Given the description of an element on the screen output the (x, y) to click on. 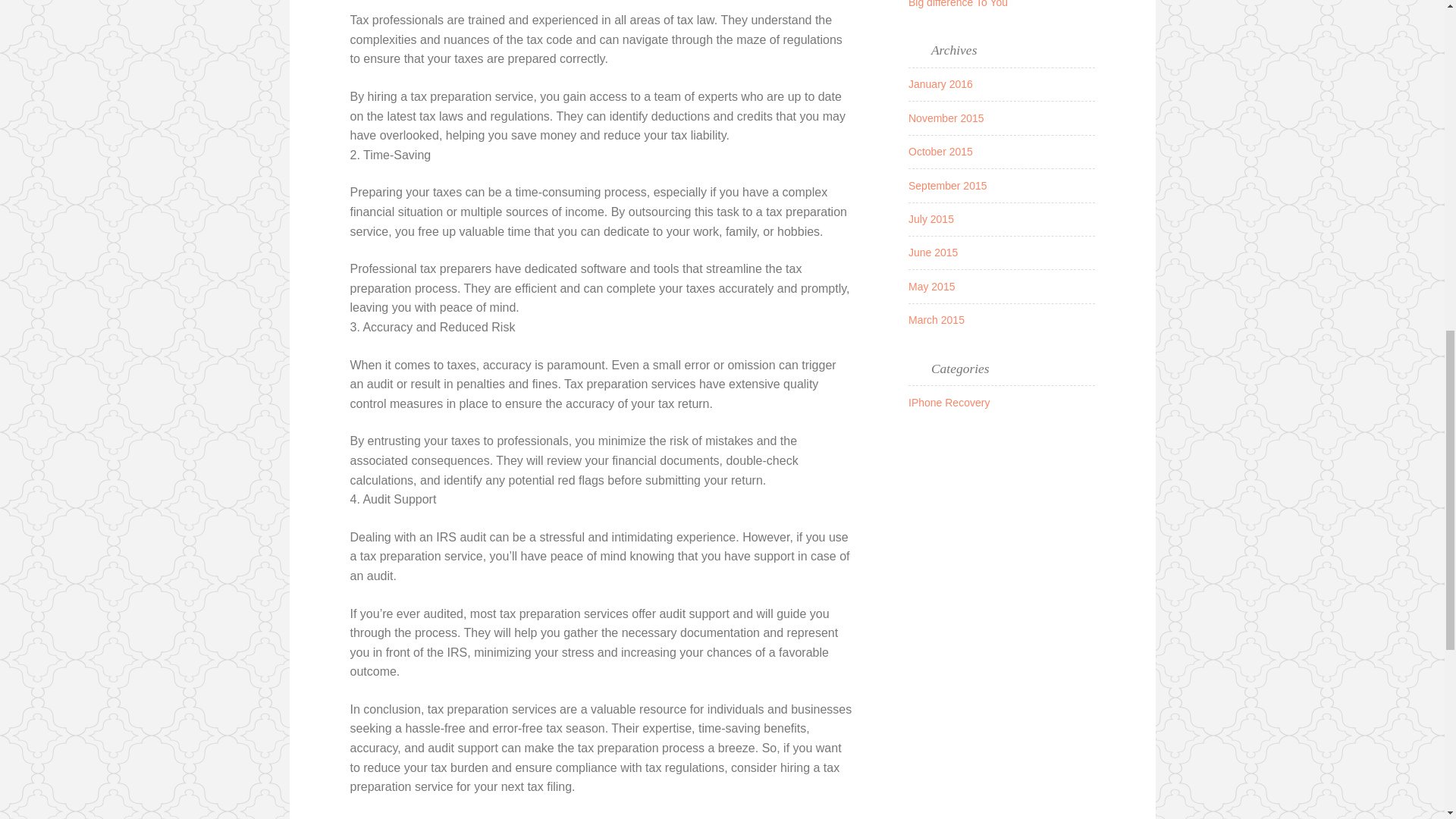
November 2015 (946, 118)
March 2015 (935, 319)
September 2015 (947, 185)
May 2015 (931, 286)
June 2015 (933, 252)
January 2016 (940, 83)
The Iphone And How It Can Make A Big difference To You (992, 3)
October 2015 (940, 151)
IPhone Recovery (949, 402)
July 2015 (930, 218)
